Given the description of an element on the screen output the (x, y) to click on. 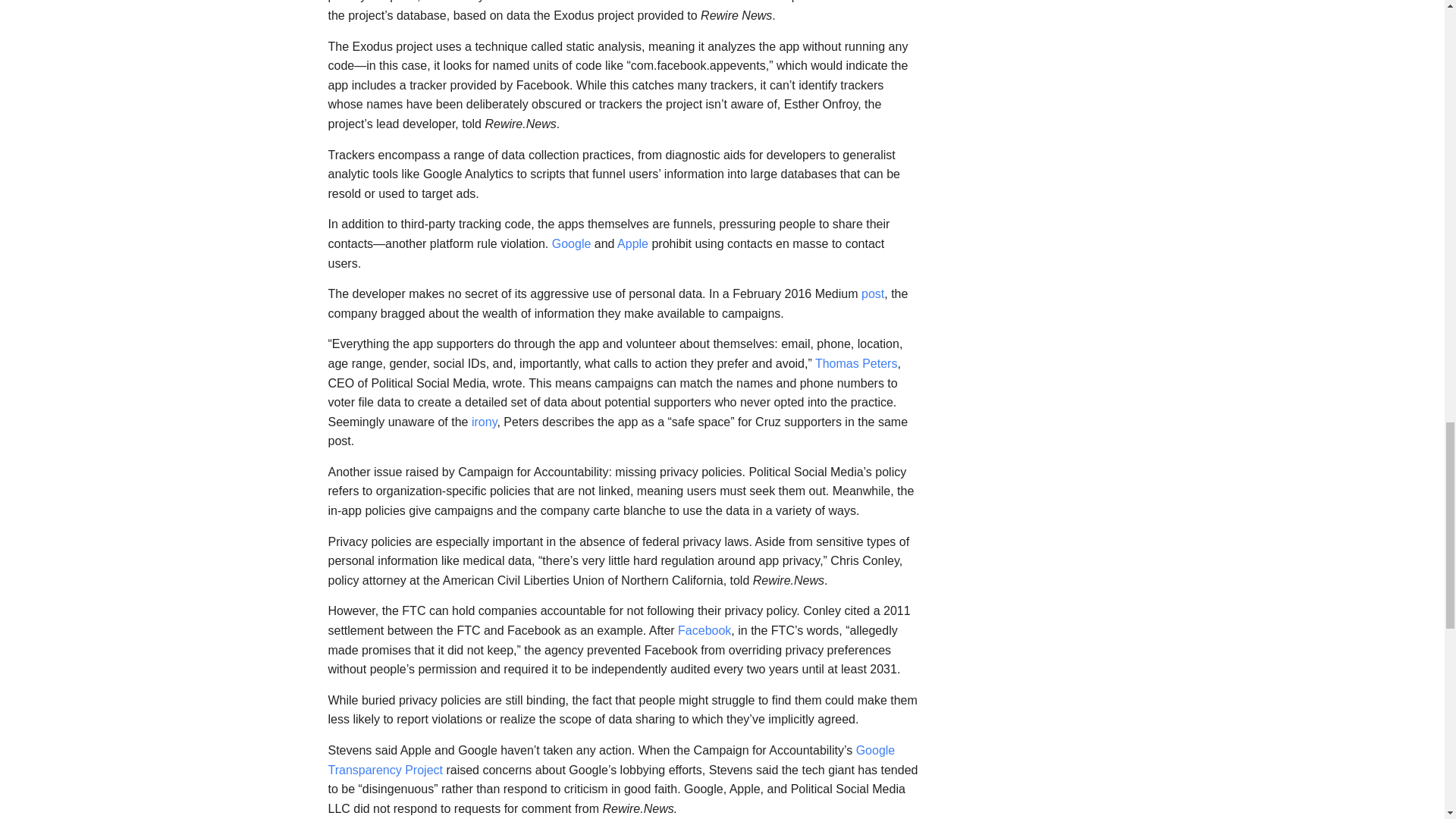
post (872, 293)
Google (571, 243)
Apple (632, 243)
